Given the description of an element on the screen output the (x, y) to click on. 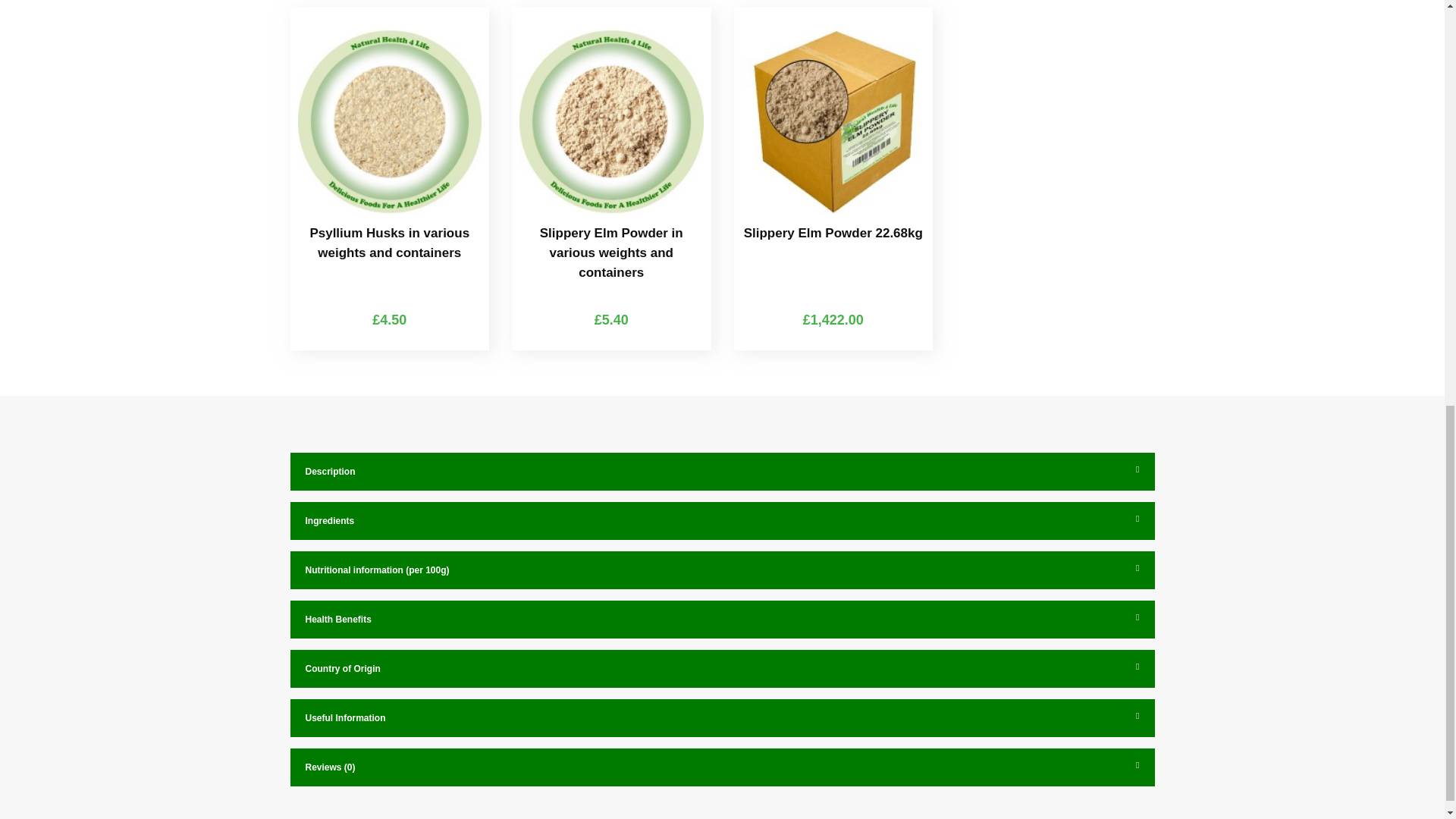
Slippery Elm Powder 22.68kg (833, 121)
Psyllium Husks in various weights and containers (389, 121)
Slippery Elm Powder in various weights and containers (611, 121)
